Given the description of an element on the screen output the (x, y) to click on. 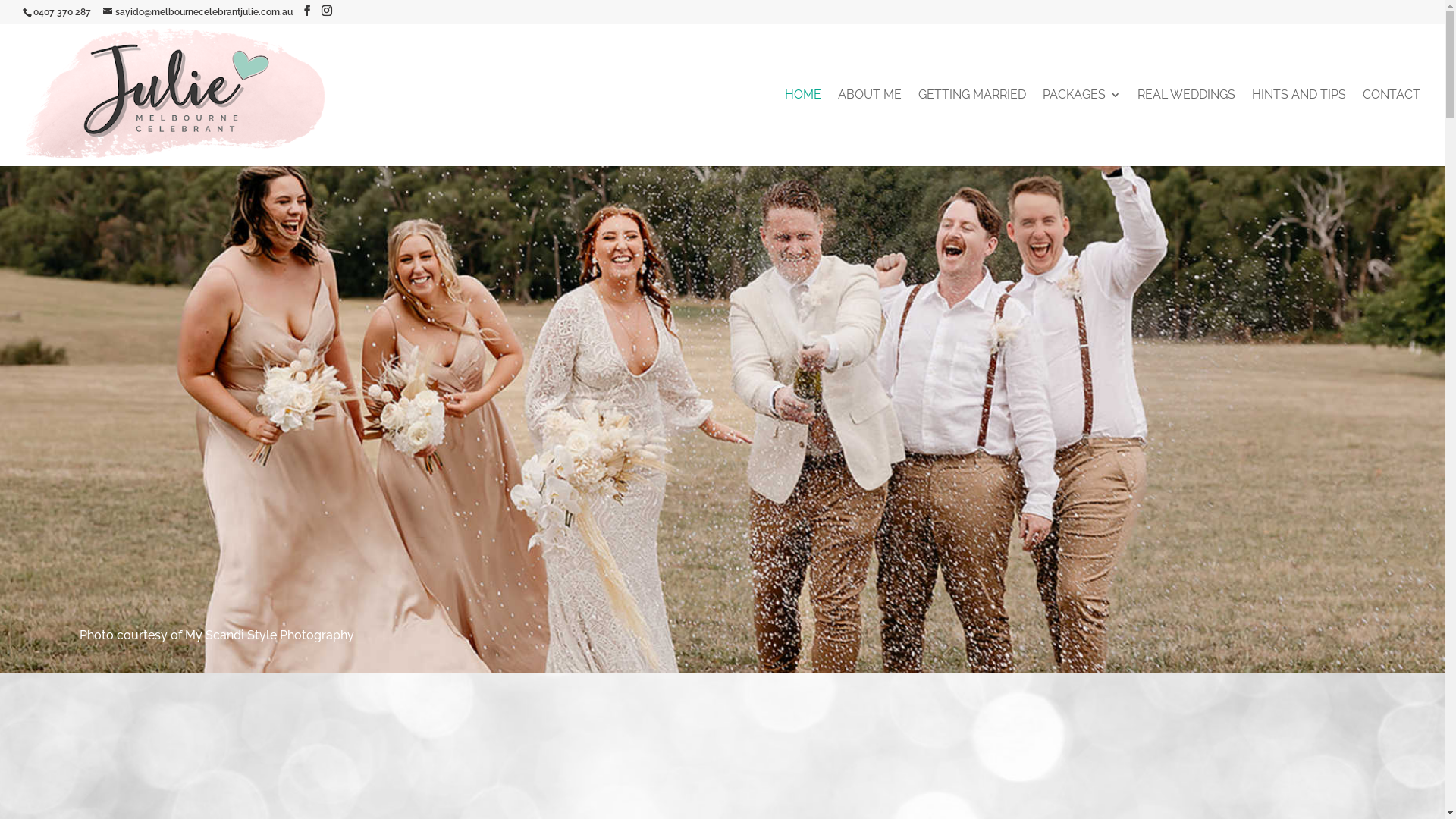
CONTACT Element type: text (1391, 127)
sayido@melbournecelebrantjulie.com.au Element type: text (197, 11)
PACKAGES Element type: text (1081, 127)
GETTING MARRIED Element type: text (972, 127)
REAL WEDDINGS Element type: text (1186, 127)
HINTS AND TIPS Element type: text (1299, 127)
ABOUT ME Element type: text (869, 127)
My Scandi Style Photography Element type: text (269, 634)
HOME Element type: text (802, 127)
